Given the description of an element on the screen output the (x, y) to click on. 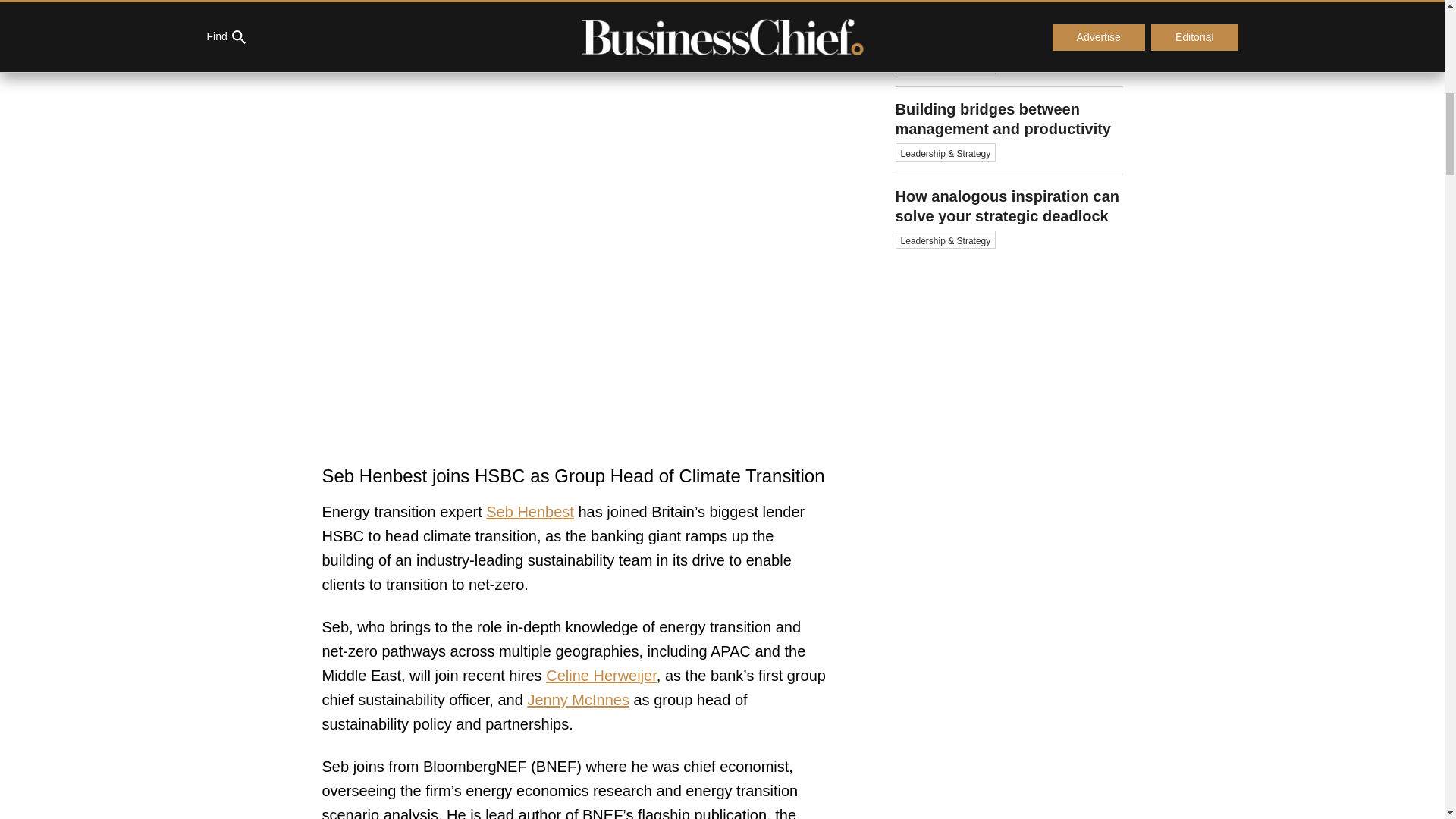
Jenny McInnes (577, 699)
Celine Herweijer (601, 675)
Seb Henbest (529, 511)
